Given the description of an element on the screen output the (x, y) to click on. 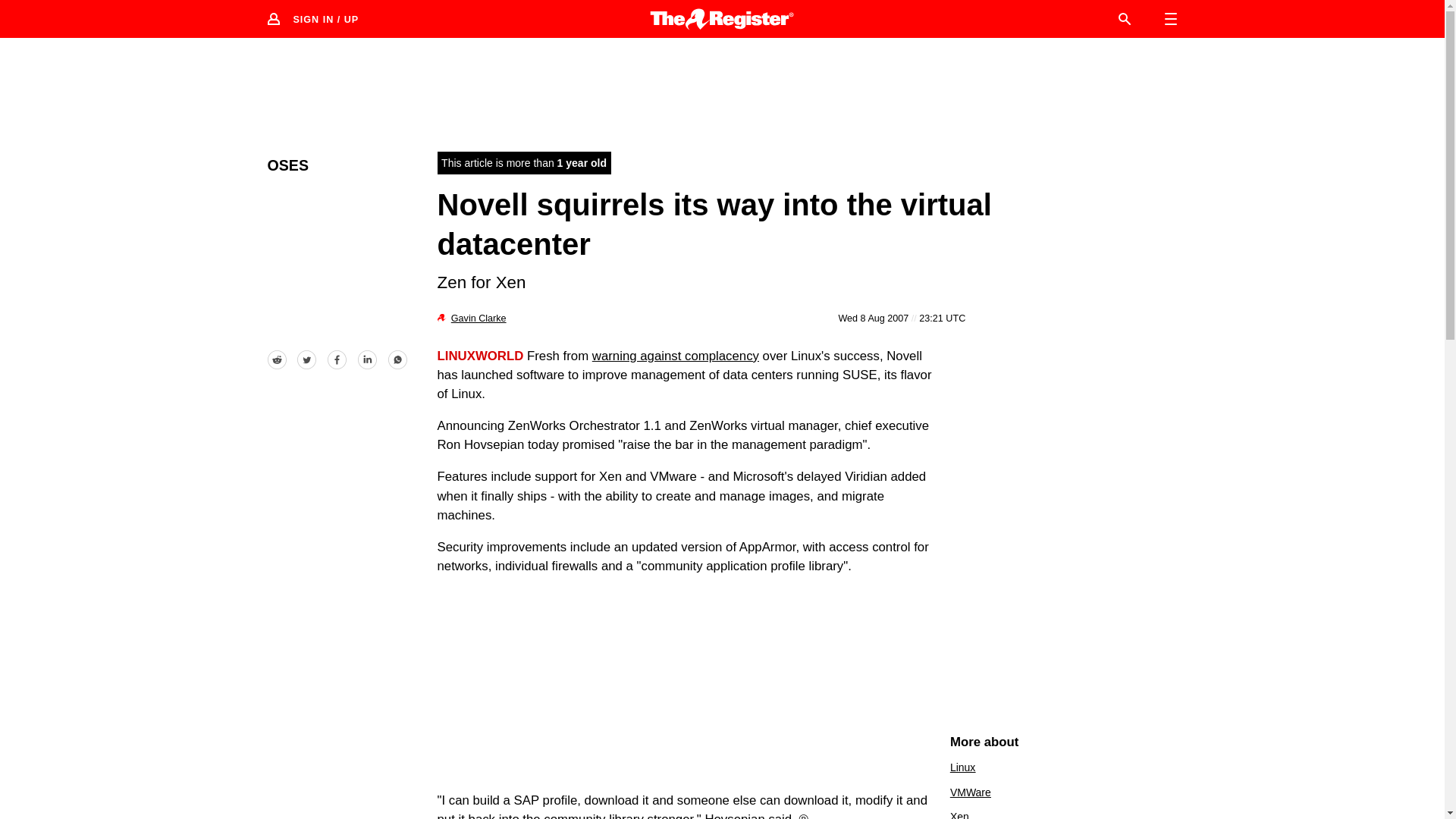
Read more by this author (478, 318)
